Given the description of an element on the screen output the (x, y) to click on. 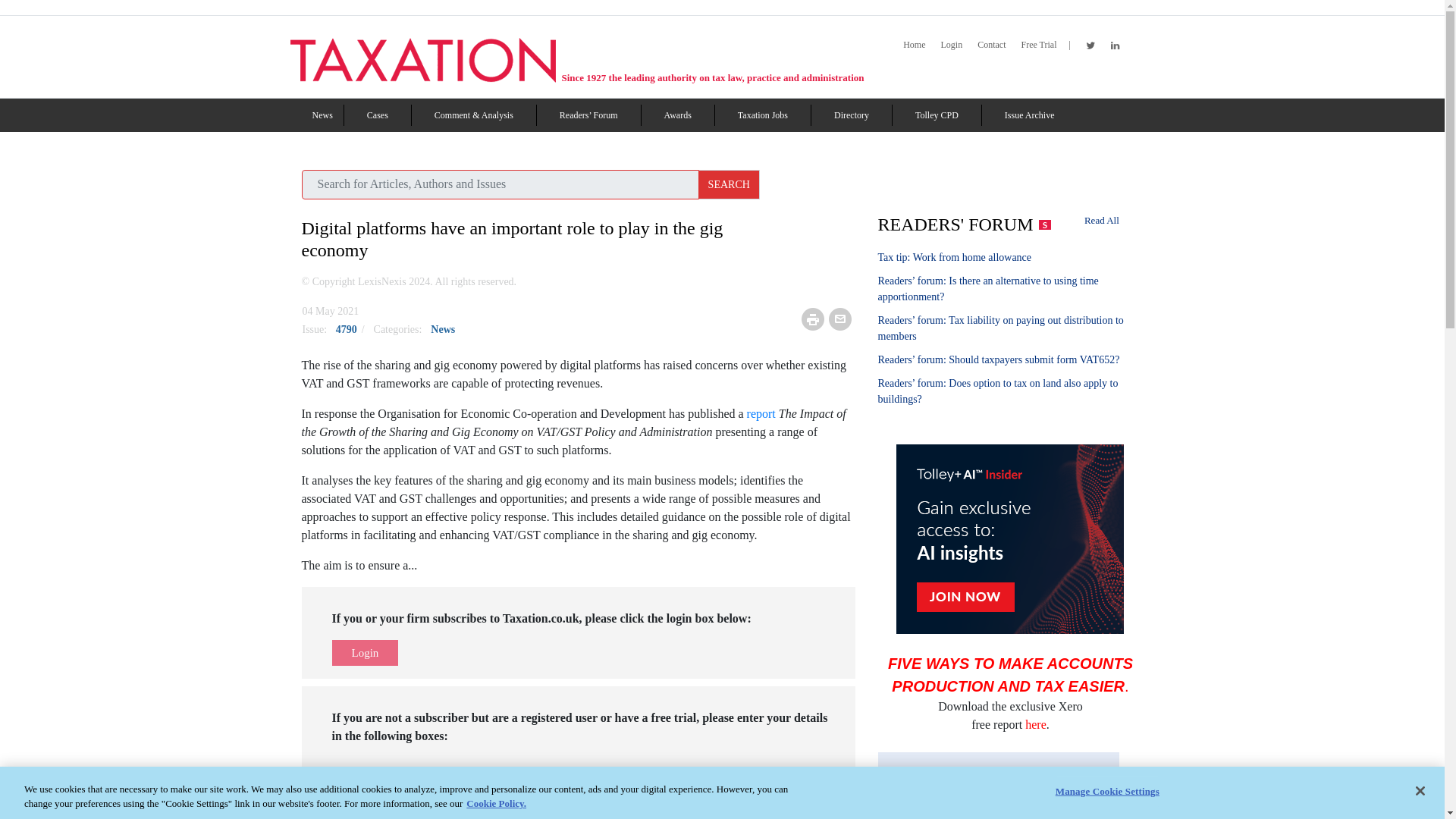
Tolley CPD (936, 115)
Issue Archive (1029, 115)
News (323, 115)
Tolley CPD (936, 115)
Awards (677, 115)
Taxation Jobs (762, 115)
Free Trial (1038, 44)
Directory (851, 115)
News (323, 115)
Tax cases (377, 115)
Taxation Awards (677, 115)
Login (951, 44)
Issue Archive (1029, 115)
Contact (991, 44)
Taxation Jobs (762, 115)
